Given the description of an element on the screen output the (x, y) to click on. 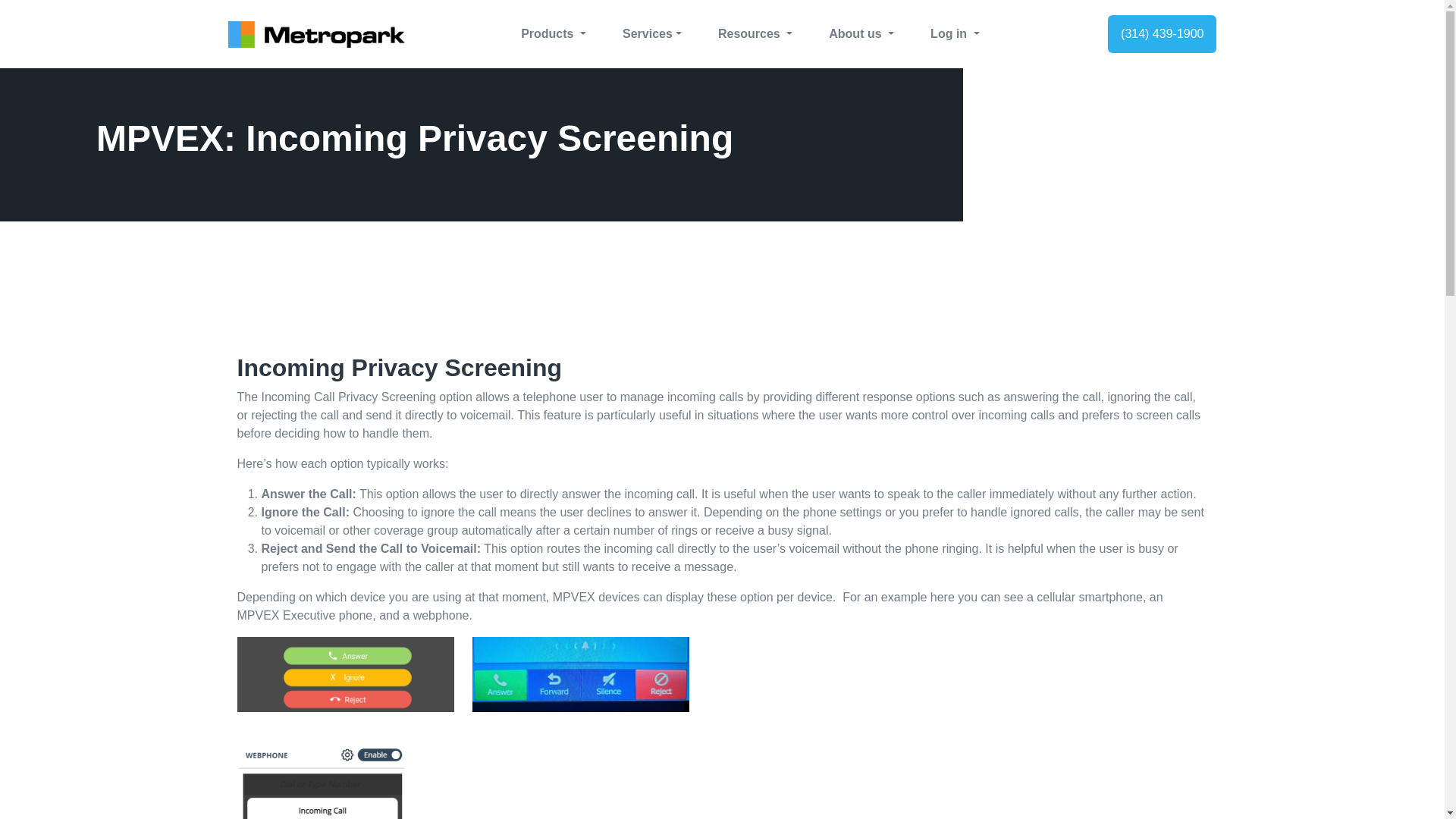
Resources (754, 33)
Services (651, 33)
Products (553, 33)
